Given the description of an element on the screen output the (x, y) to click on. 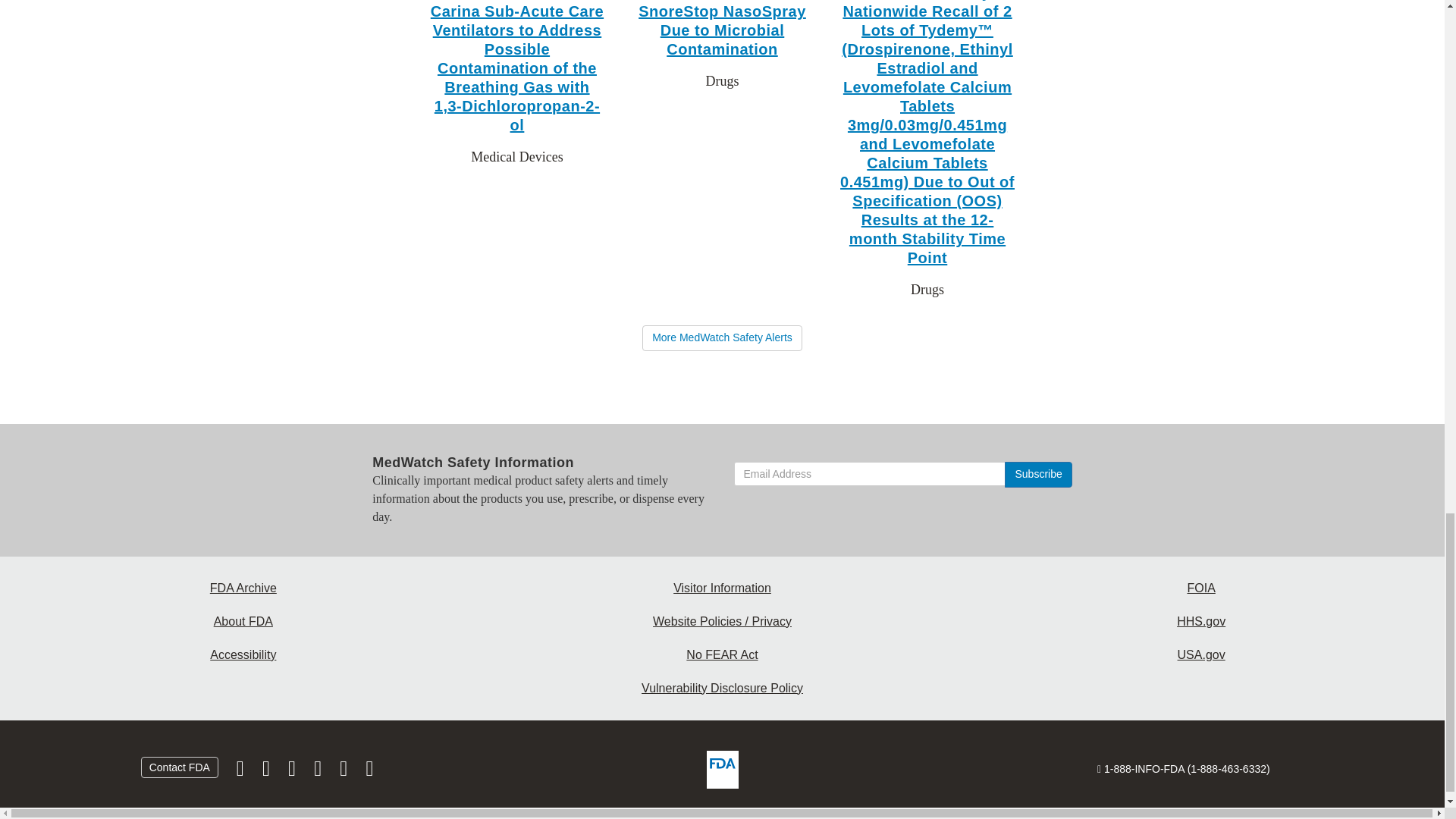
Follow FDA on Facebook (241, 770)
Subscribe (1037, 474)
Health and Human Services (1200, 621)
Freedom of Information Act (1200, 587)
